Given the description of an element on the screen output the (x, y) to click on. 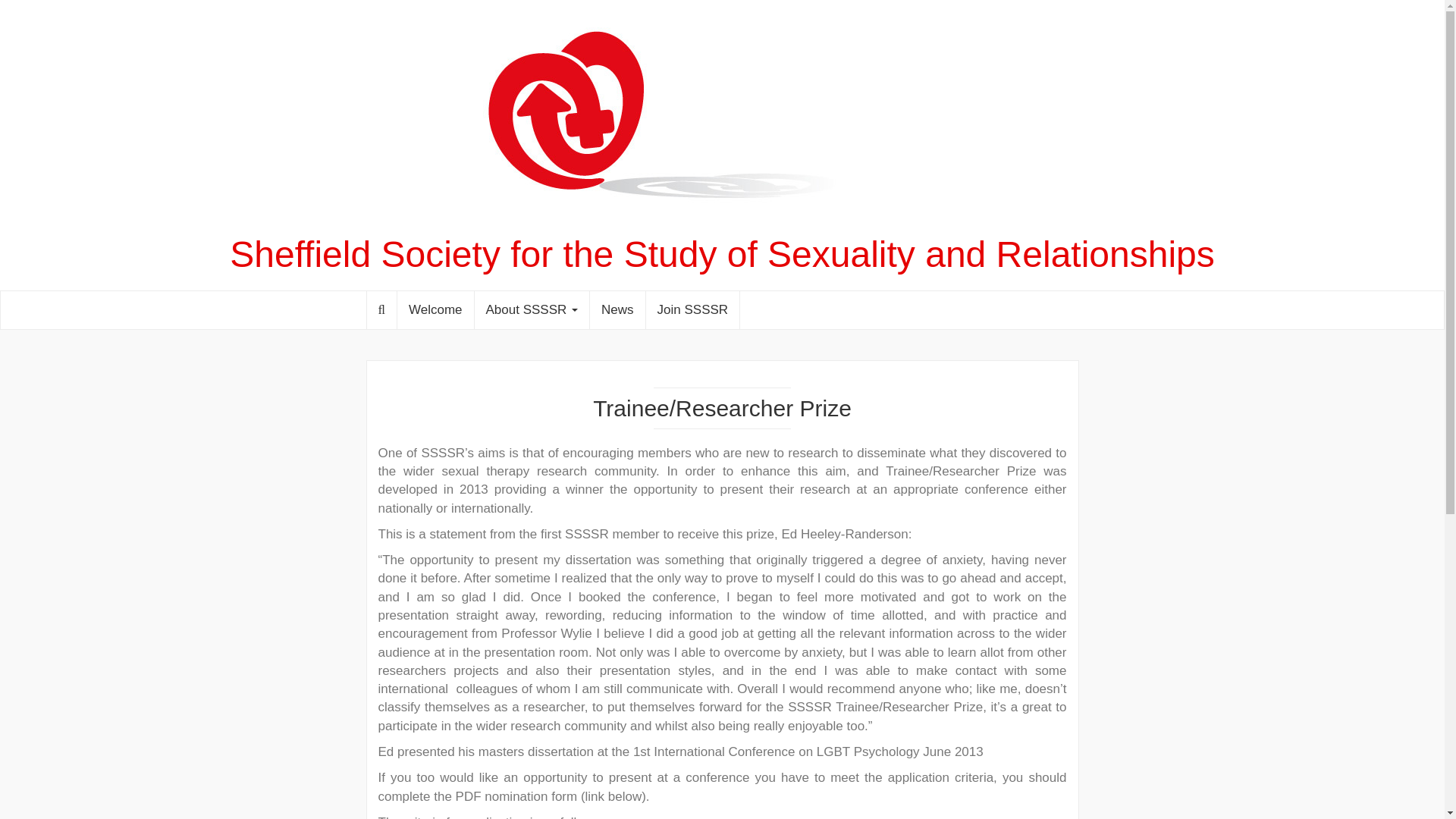
Welcome (435, 310)
Join SSSSR (692, 310)
About SSSSR (531, 310)
Join SSSSR (692, 310)
News (617, 310)
About SSSSR (531, 310)
News (617, 310)
Welcome (435, 310)
